Given the description of an element on the screen output the (x, y) to click on. 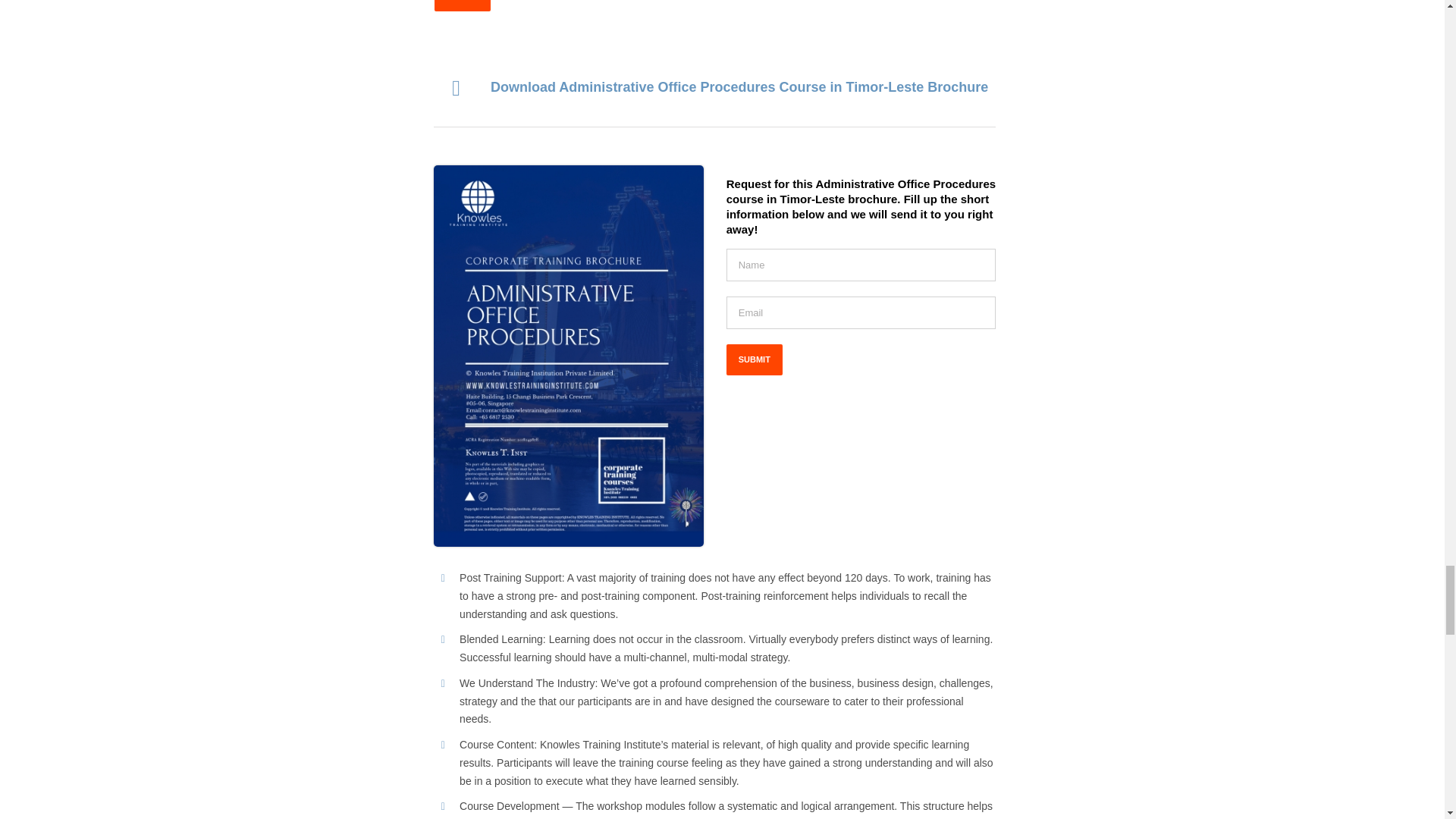
submit (461, 5)
submit (461, 5)
submit (754, 359)
submit (754, 359)
